Given the description of an element on the screen output the (x, y) to click on. 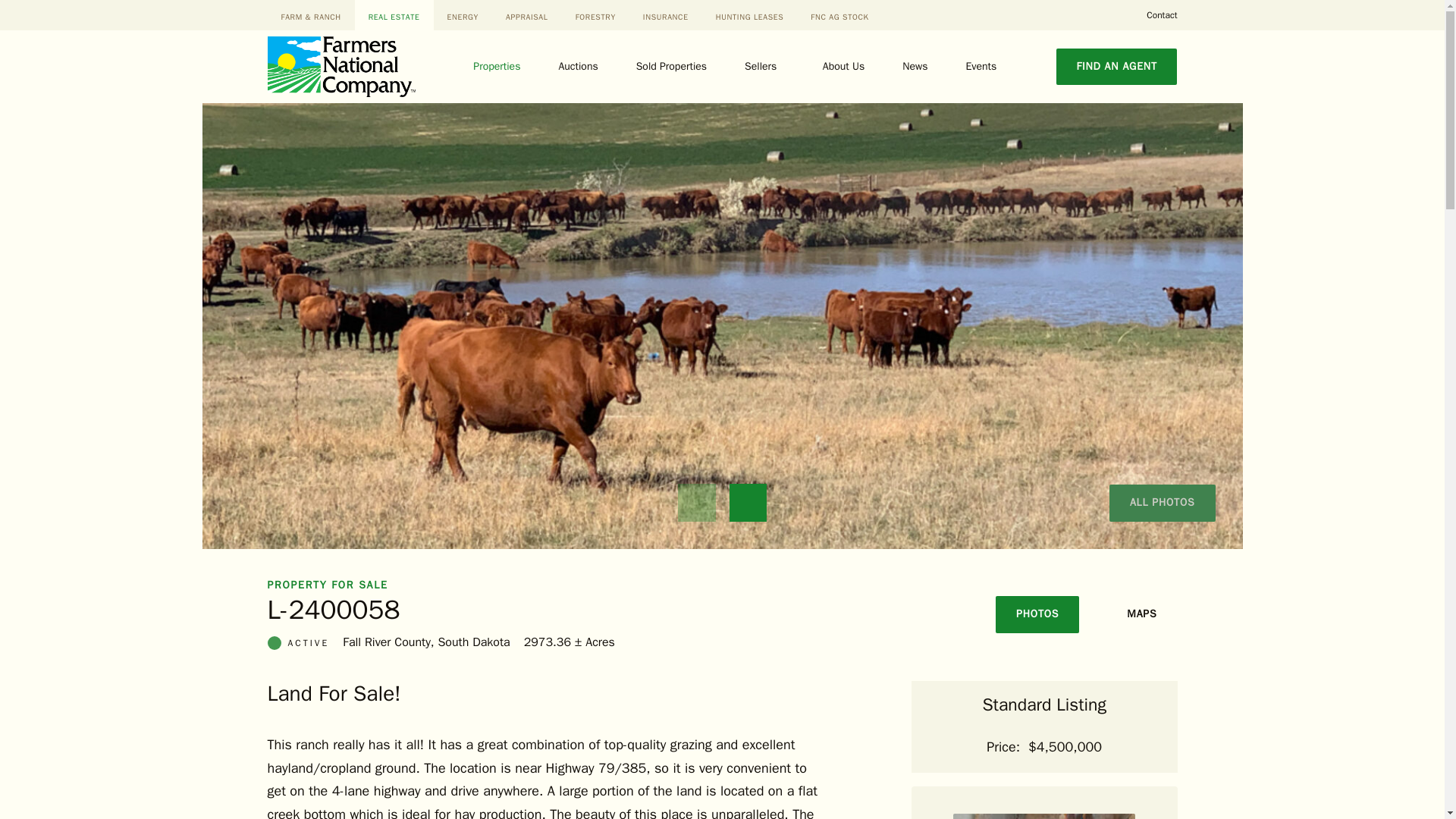
HUNTING LEASES (749, 17)
ENERGY (462, 17)
FNC AG STOCK (839, 17)
PHOTOS (1036, 614)
APPRAISAL (527, 17)
FORESTRY (595, 17)
Sold Properties (676, 66)
MAPS (1141, 614)
REAL ESTATE (394, 17)
INSURANCE (664, 17)
